Given the description of an element on the screen output the (x, y) to click on. 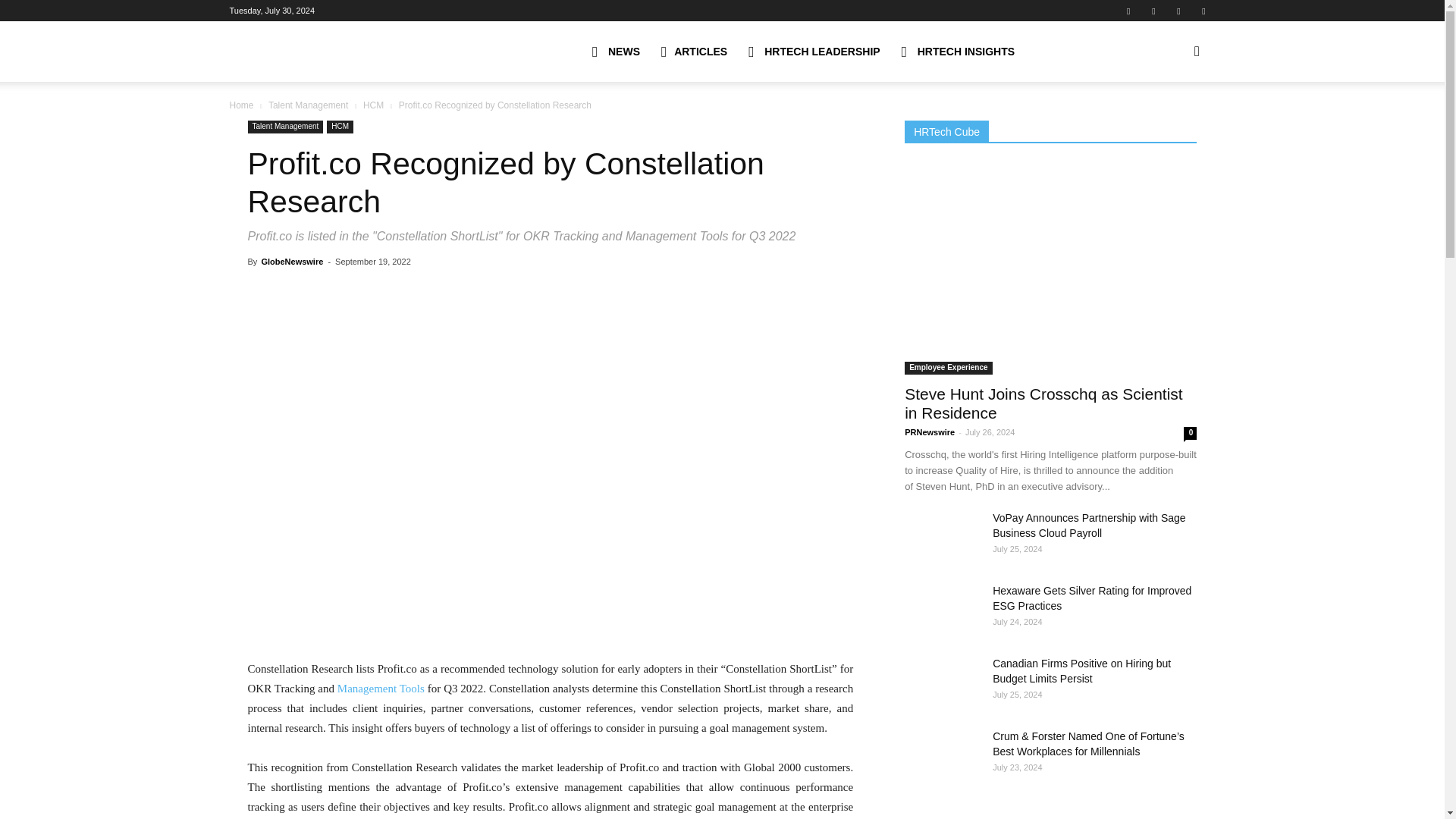
View all posts in HCM (373, 104)
RSS (1178, 10)
View all posts in Talent Management (307, 104)
Facebook (1128, 10)
Twitter (1203, 10)
Linkedin (1152, 10)
